Given the description of an element on the screen output the (x, y) to click on. 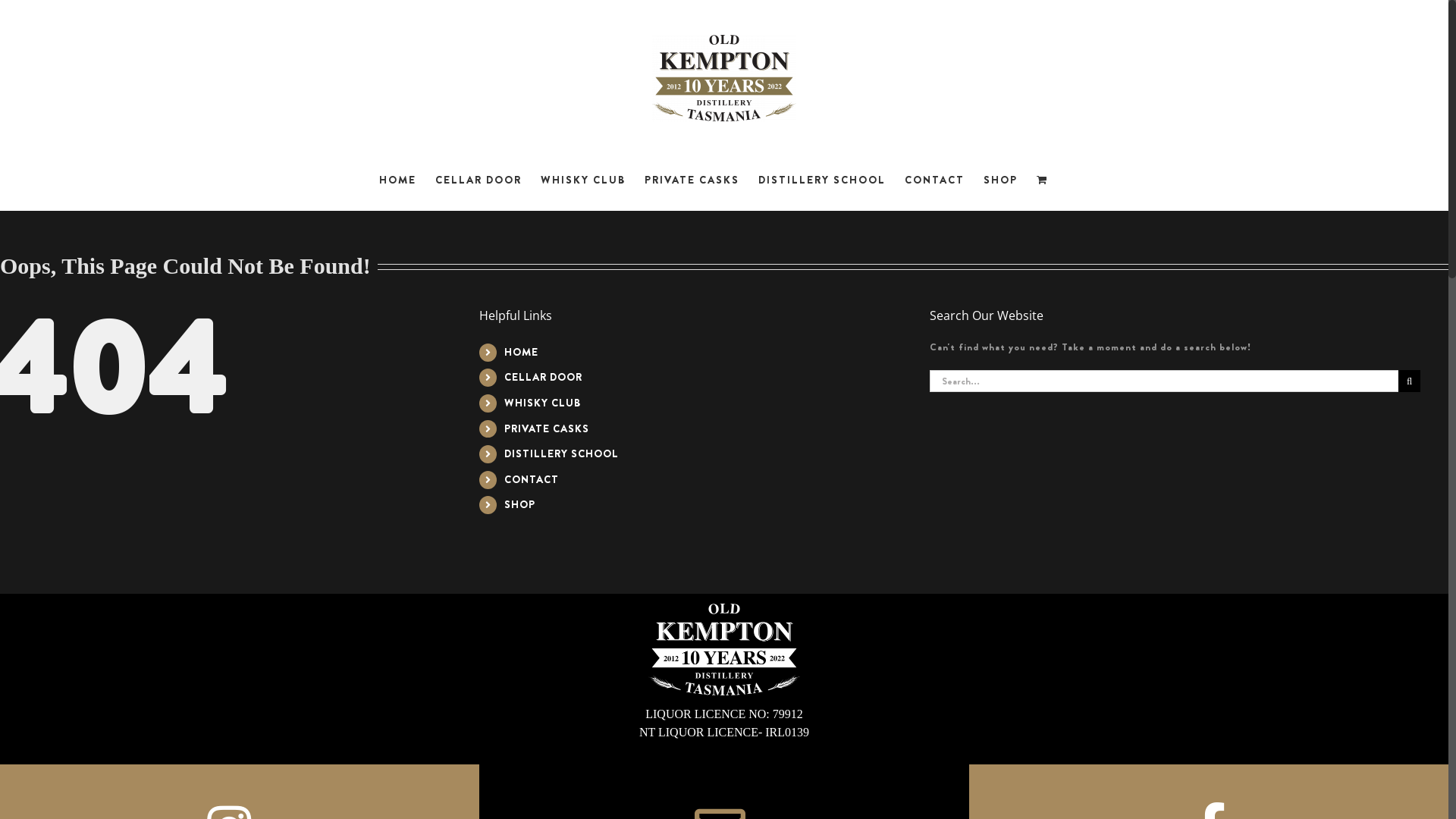
CONTACT Element type: text (933, 179)
HOME Element type: text (521, 351)
DISTILLERY SCHOOL Element type: text (561, 453)
CELLAR DOOR Element type: text (478, 179)
HOME Element type: text (397, 179)
PRIVATE CASKS Element type: text (546, 428)
CONTACT Element type: text (531, 478)
DISTILLERY SCHOOL Element type: text (821, 179)
CELLAR DOOR Element type: text (543, 376)
PRIVATE CASKS Element type: text (691, 179)
SHOP Element type: text (999, 179)
WHISKY CLUB Element type: text (581, 179)
WHISKY CLUB Element type: text (542, 402)
SHOP Element type: text (519, 503)
